Given the description of an element on the screen output the (x, y) to click on. 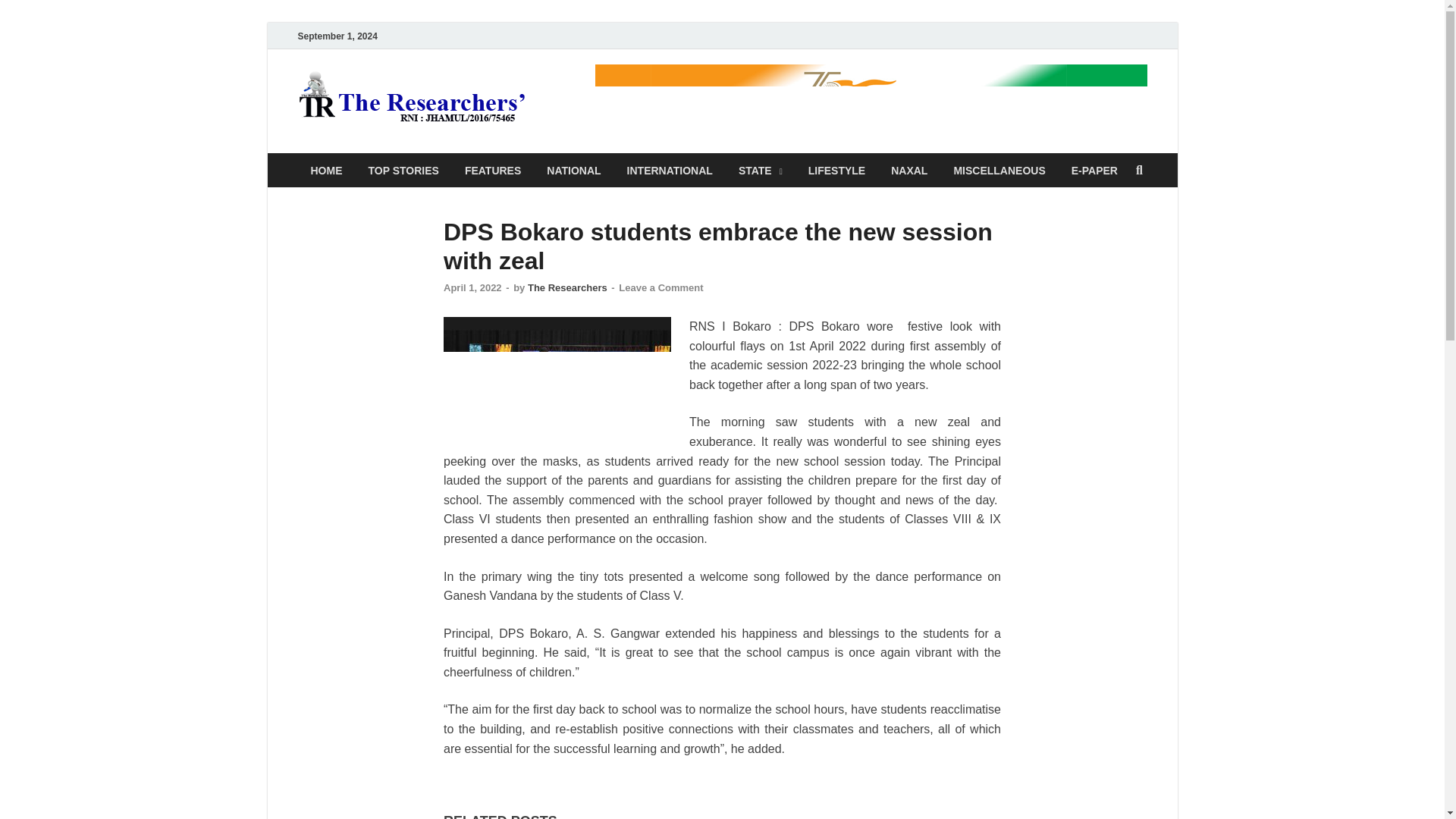
INTERNATIONAL (669, 170)
NAXAL (908, 170)
LIFESTYLE (835, 170)
MISCELLANEOUS (999, 170)
NATIONAL (573, 170)
HOME (326, 170)
April 1, 2022 (473, 287)
E-PAPER (1094, 170)
Leave a Comment (660, 287)
TOP STORIES (403, 170)
